Given the description of an element on the screen output the (x, y) to click on. 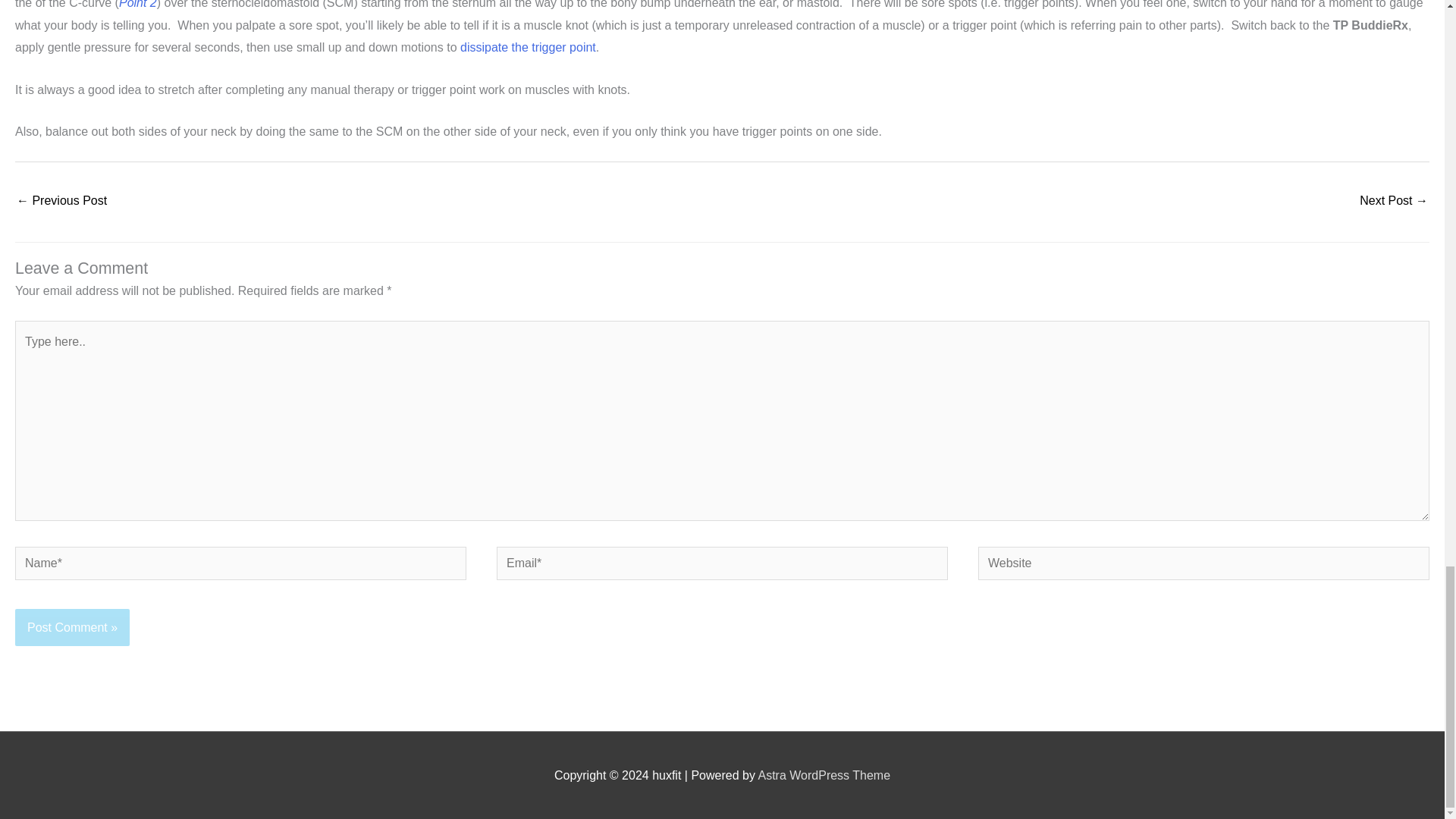
Astra WordPress Theme (823, 775)
dissipate the trigger point (527, 47)
Release Trigger Points in the Supraspinatus (1393, 202)
Point 2 (138, 4)
